Given the description of an element on the screen output the (x, y) to click on. 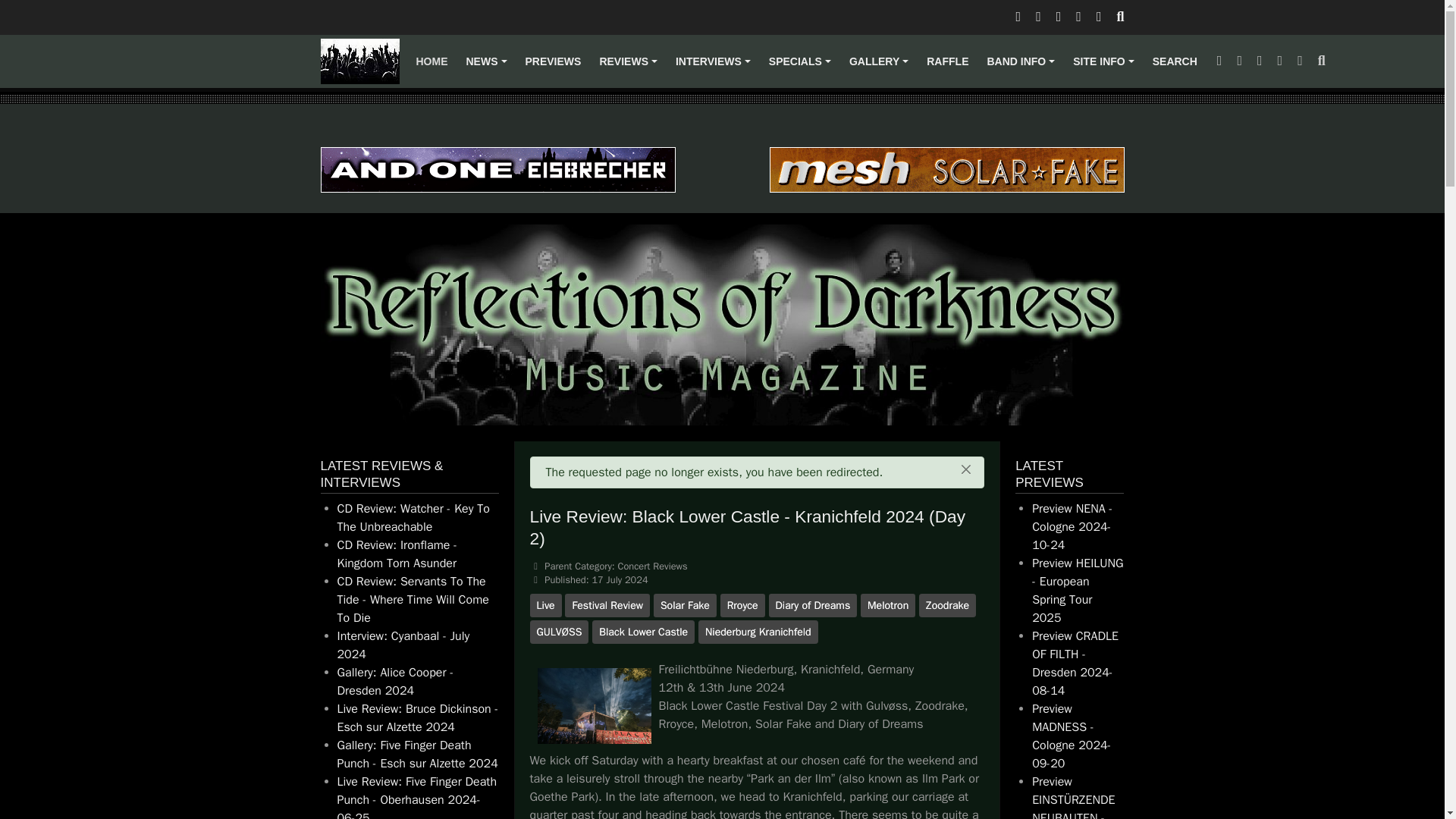
PREVIEWS (552, 61)
HOME (431, 61)
